Given the description of an element on the screen output the (x, y) to click on. 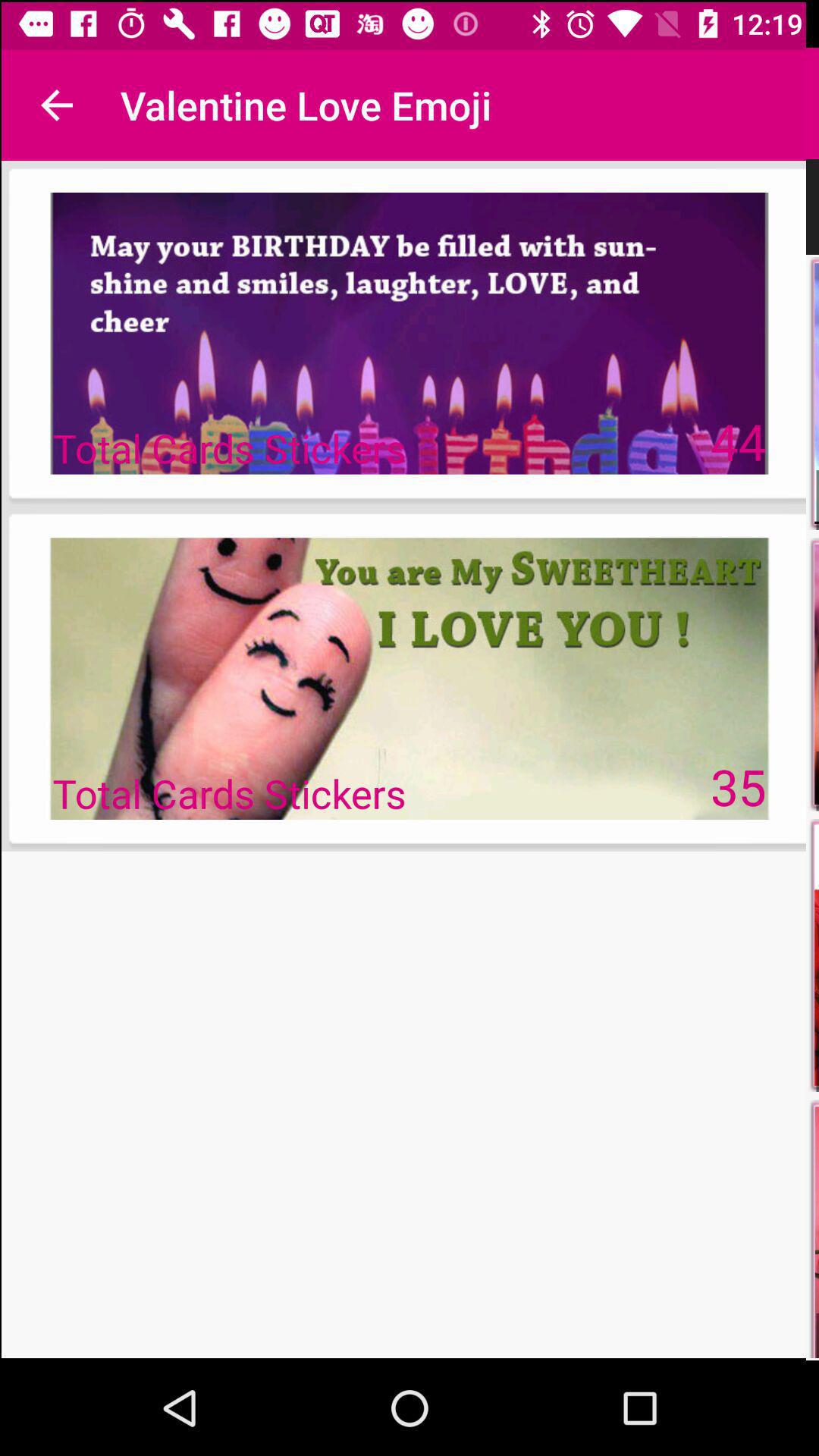
press the icon next to valentine love emoji icon (55, 103)
